Given the description of an element on the screen output the (x, y) to click on. 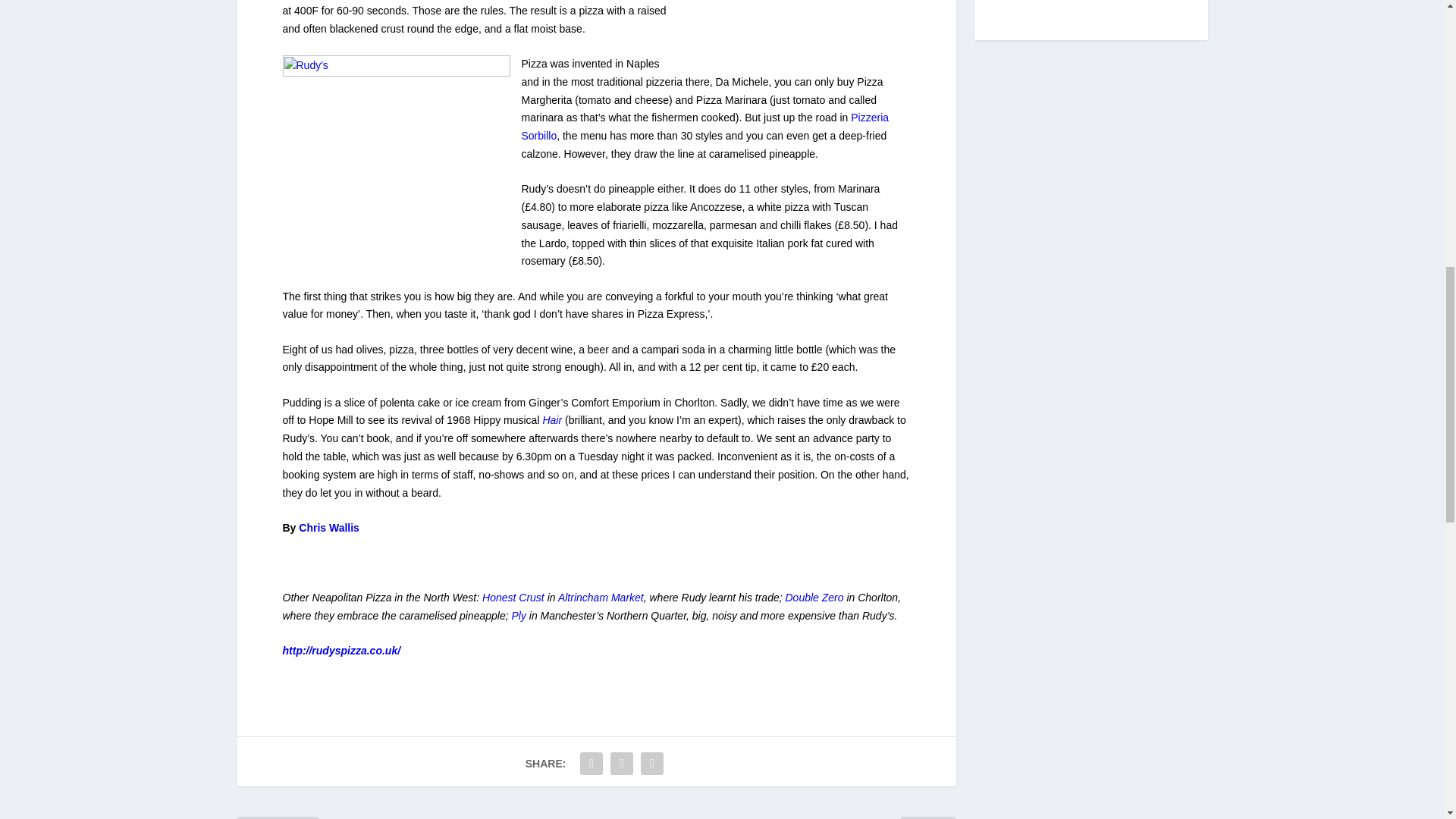
Rudy's (395, 168)
Hair (551, 419)
Pizzeria Sorbillo (705, 126)
Chris Wallis (328, 527)
Honest Crust (514, 597)
Altrincham Market (600, 597)
Ply (519, 615)
Double Zero (816, 597)
Rudy's Pizza, image by Chris Wallis (796, 34)
